Given the description of an element on the screen output the (x, y) to click on. 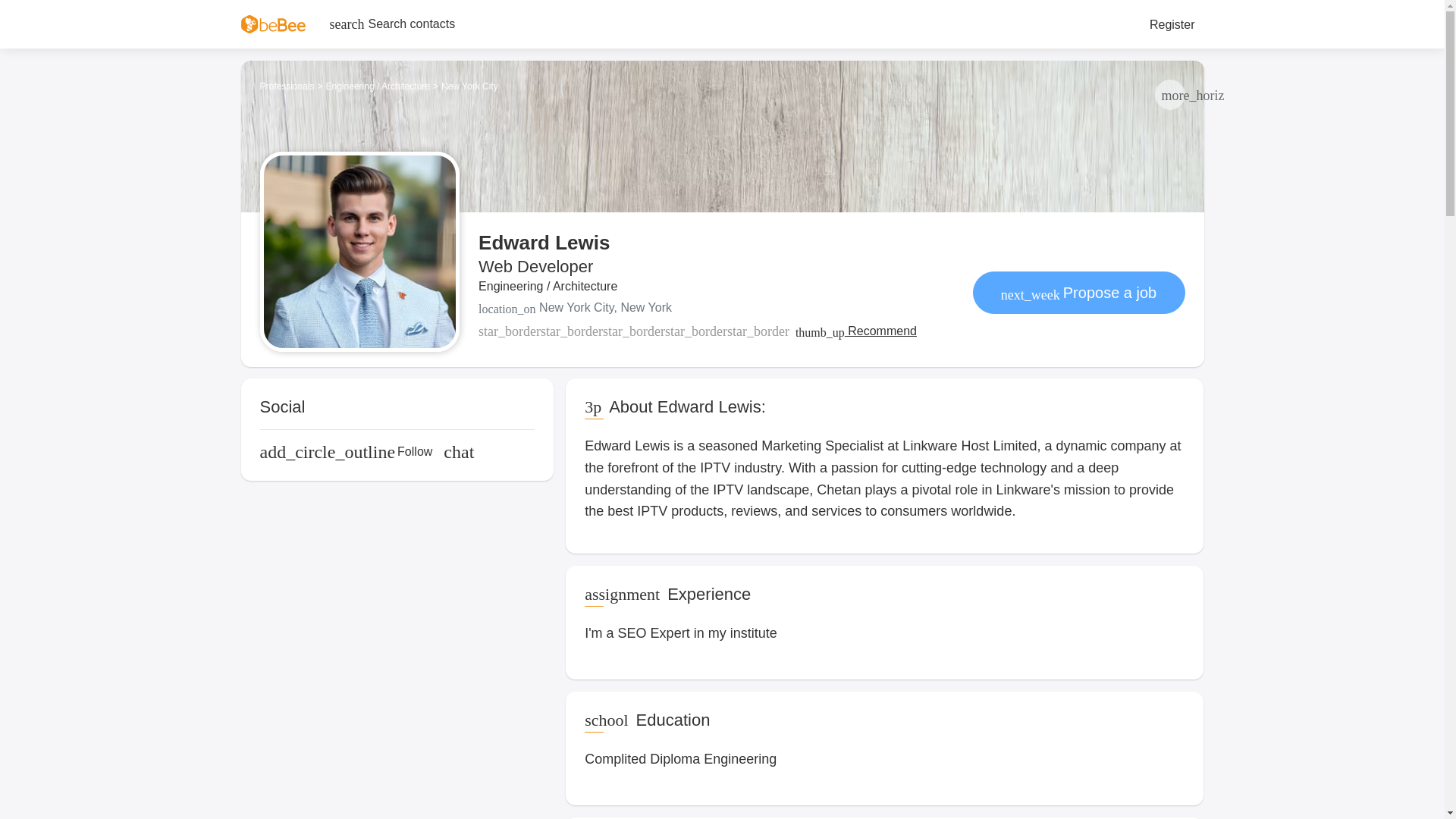
Propose a job (1078, 292)
New York City, New York (698, 307)
Follow (345, 451)
Register (1172, 24)
Search contacts (392, 24)
Recommend (855, 331)
Professionals (286, 86)
